Given the description of an element on the screen output the (x, y) to click on. 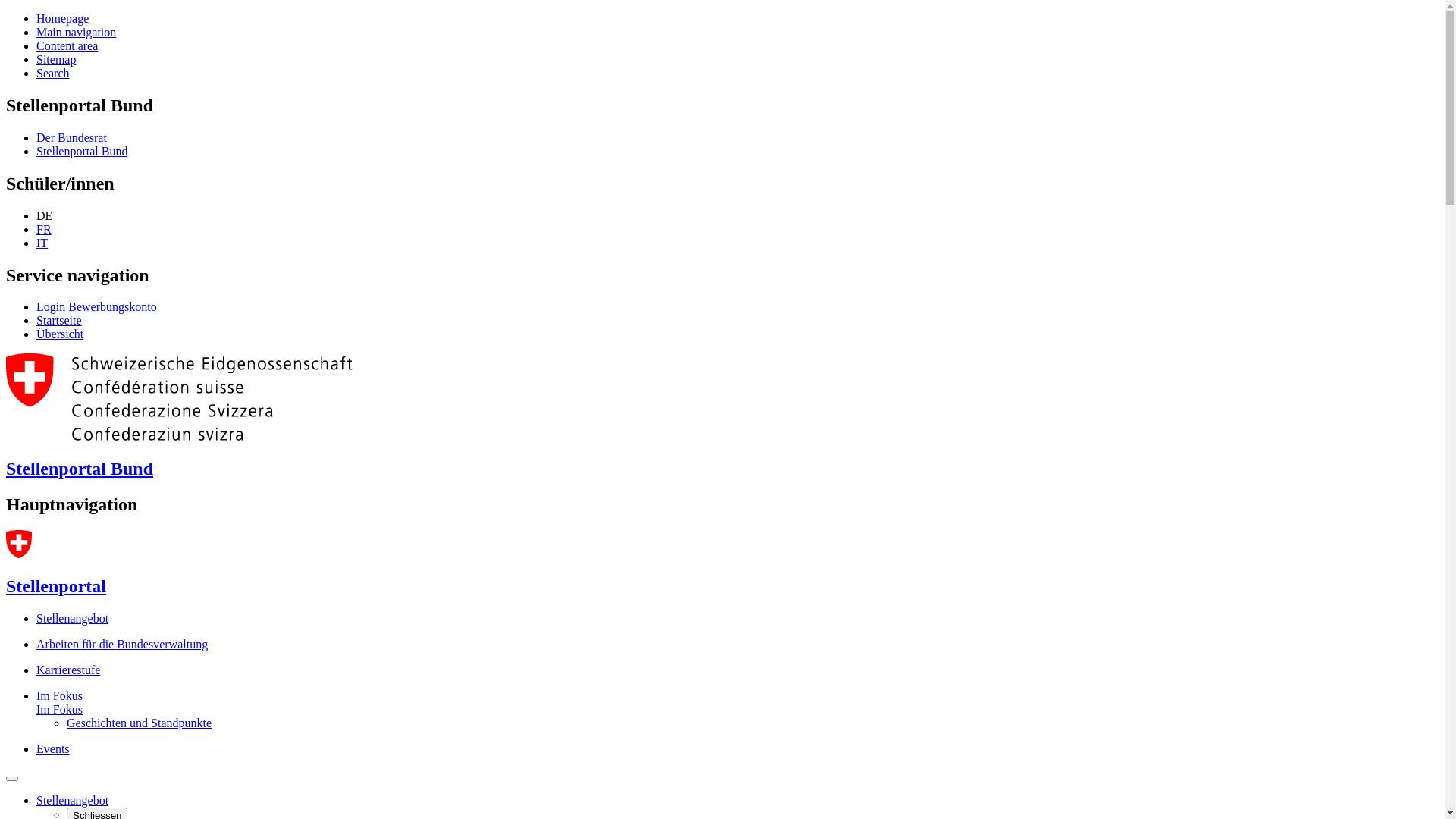
FR Element type: text (43, 228)
Im Fokus Element type: text (59, 708)
Geschichten und Standpunkte Element type: text (138, 722)
Search Element type: text (52, 72)
Login Bewerbungskonto Element type: text (96, 306)
Stellenportal Bund Element type: text (81, 150)
Stellenangebot Element type: text (72, 617)
Sitemap Element type: text (55, 59)
Content area Element type: text (66, 45)
Stellenangebot Element type: text (72, 799)
Stellenportal Element type: text (56, 586)
Events Element type: text (52, 748)
Main navigation Element type: text (76, 31)
IT Element type: text (41, 242)
Stellenportal Bund Element type: text (722, 454)
Homepage Element type: text (62, 18)
Der Bundesrat Element type: text (71, 137)
DE Element type: text (44, 215)
Karrierestufe Element type: text (68, 669)
Startseite Element type: text (58, 319)
Im Fokus Element type: text (59, 695)
